Given the description of an element on the screen output the (x, y) to click on. 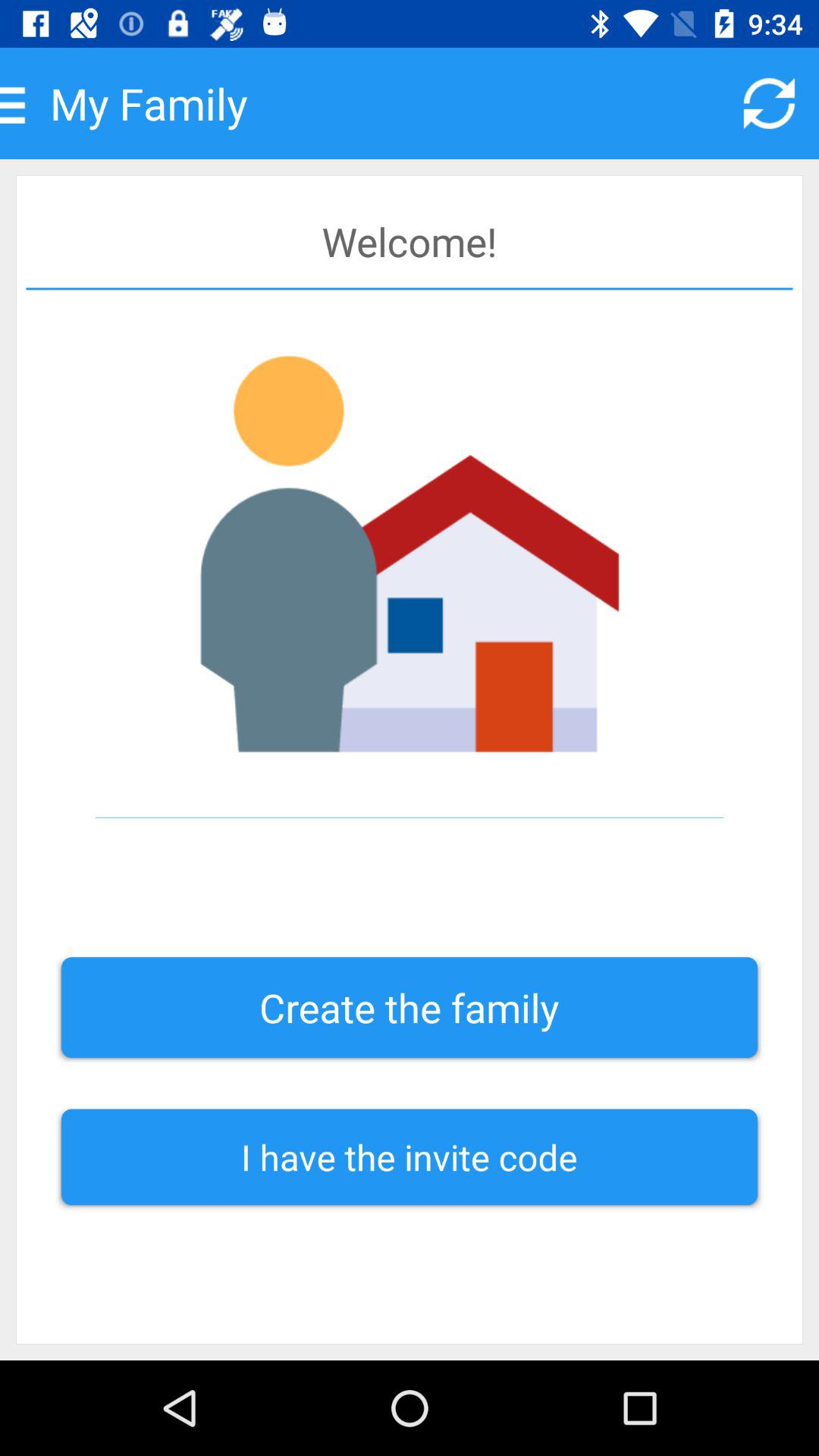
refresh option (769, 103)
